Given the description of an element on the screen output the (x, y) to click on. 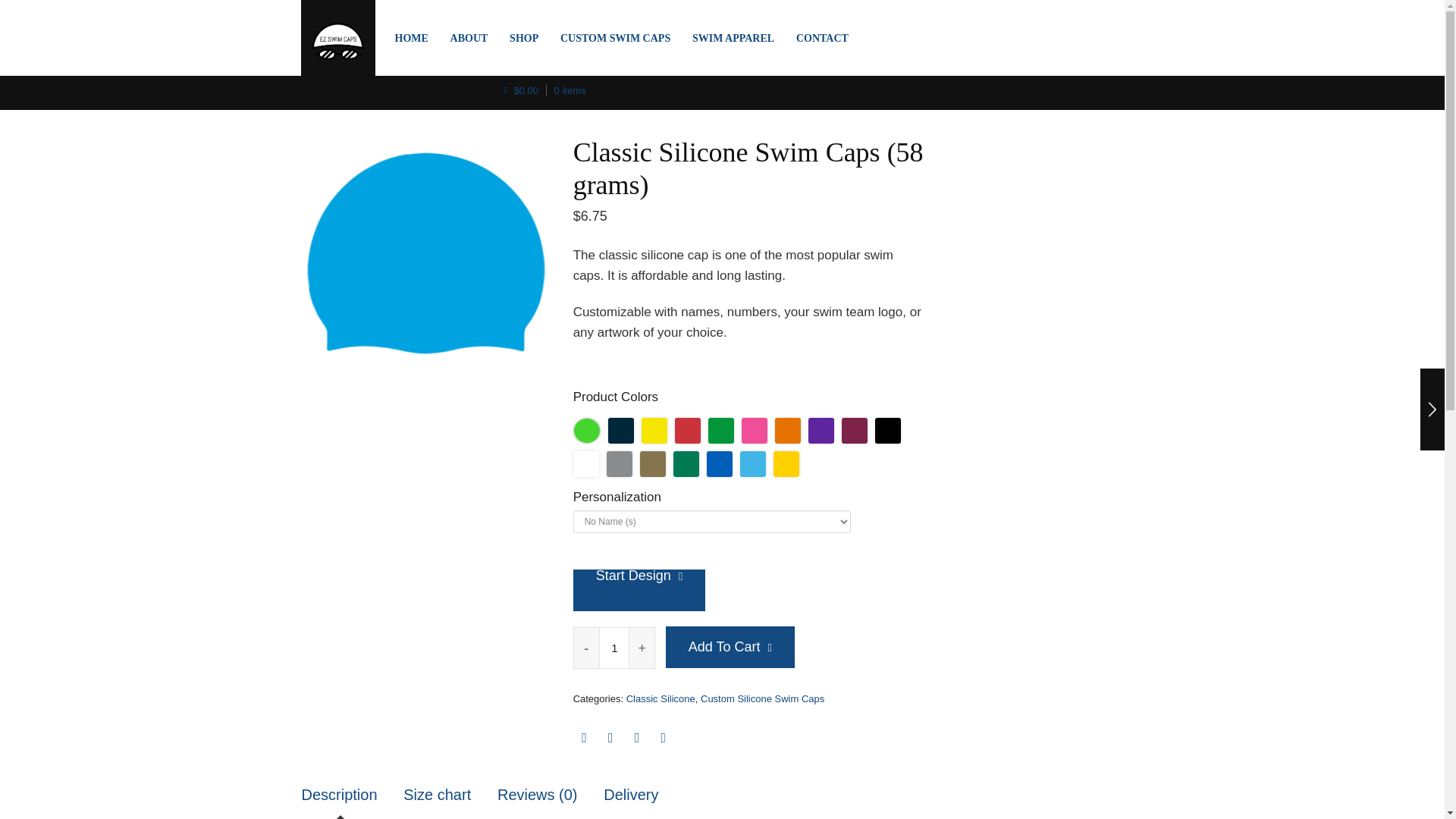
ABOUT (469, 37)
- (586, 647)
1 (613, 647)
SHOP (523, 37)
SWIM APPAREL (733, 37)
View your shopping cart (544, 90)
CUSTOM SWIM CAPS (614, 37)
Yellow (654, 430)
CONTACT (822, 37)
HOME (411, 37)
